Given the description of an element on the screen output the (x, y) to click on. 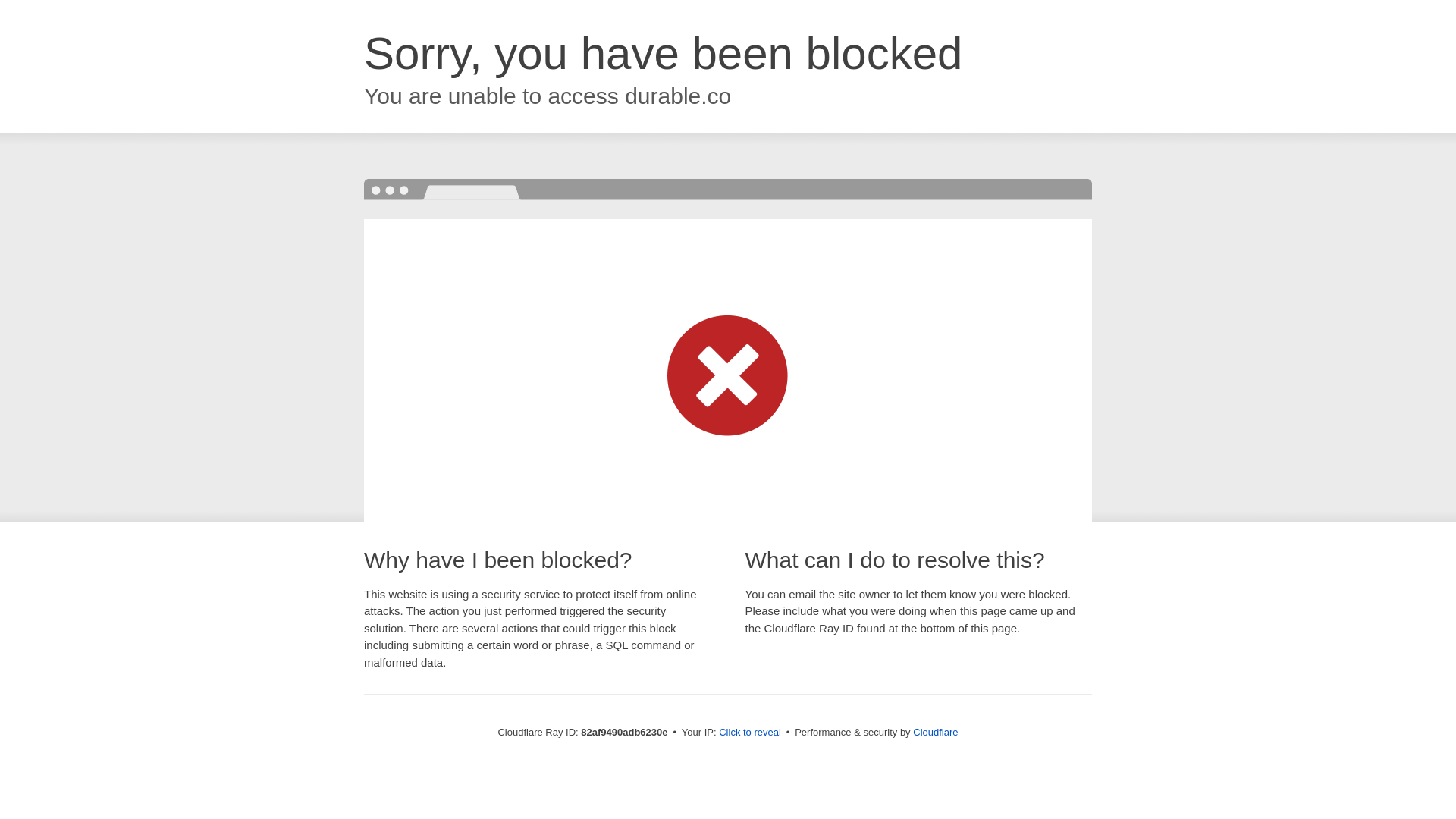
Click to reveal Element type: text (749, 732)
Cloudflare Element type: text (935, 731)
